Given the description of an element on the screen output the (x, y) to click on. 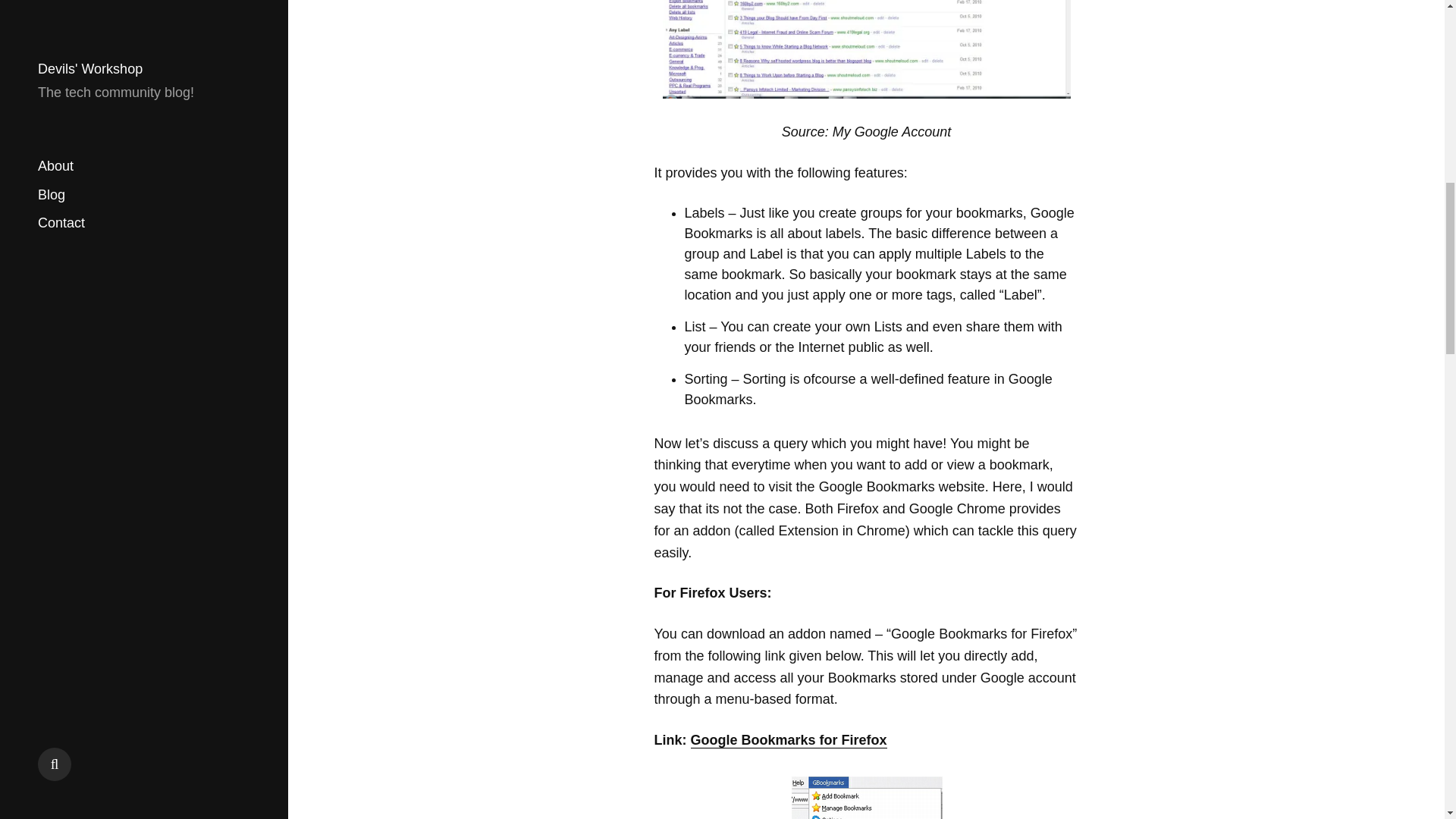
Google Bookmarks for Firefox (788, 740)
Google Bookmarks (866, 49)
Google Bookmarks Menu (866, 796)
